Given the description of an element on the screen output the (x, y) to click on. 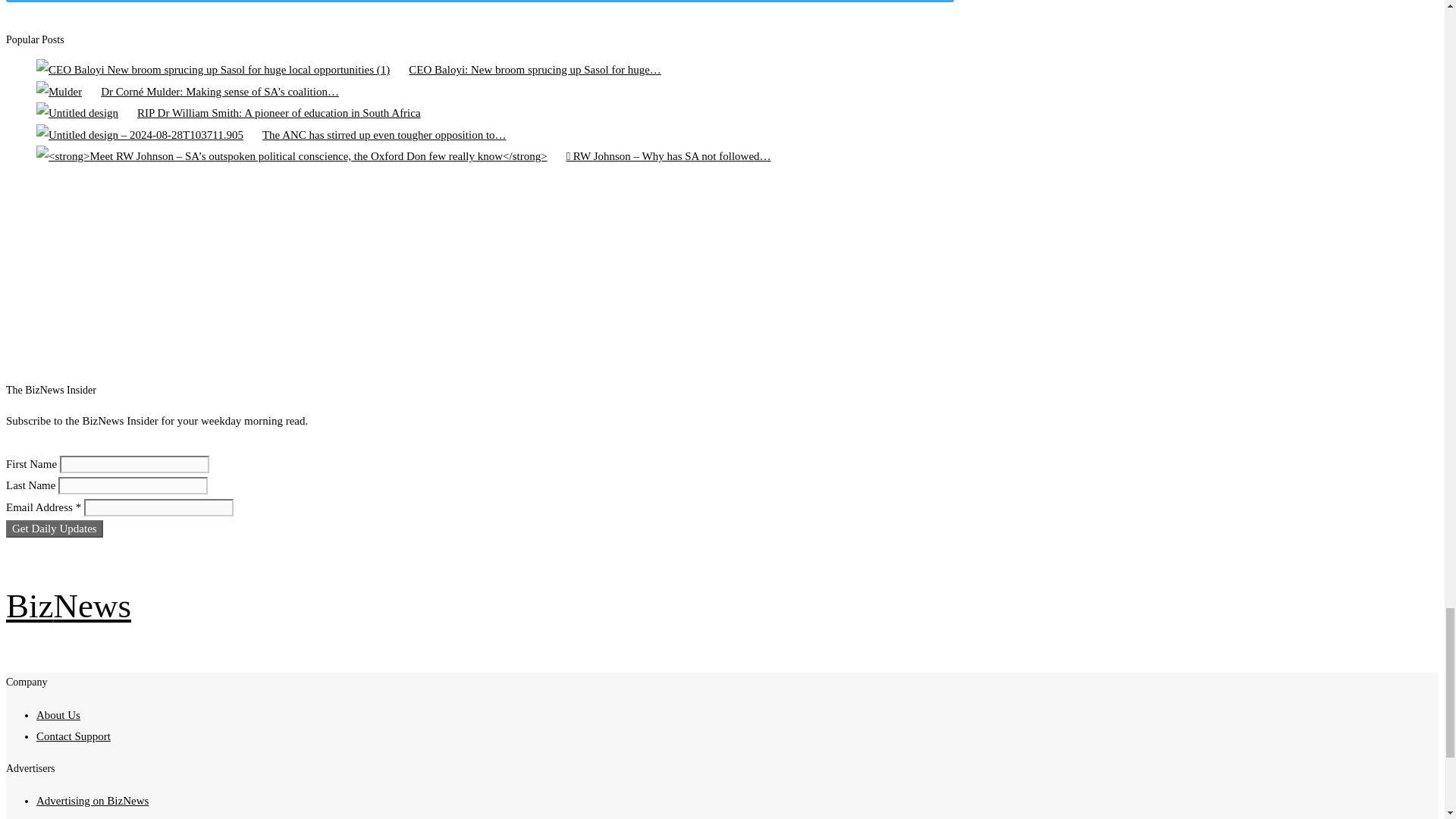
Get Daily Updates (54, 528)
RIP Dr William Smith: A pioneer of education in South Africa (76, 113)
Spotify Embed: BizNews Radio (464, 276)
BizNews (68, 605)
